Given the description of an element on the screen output the (x, y) to click on. 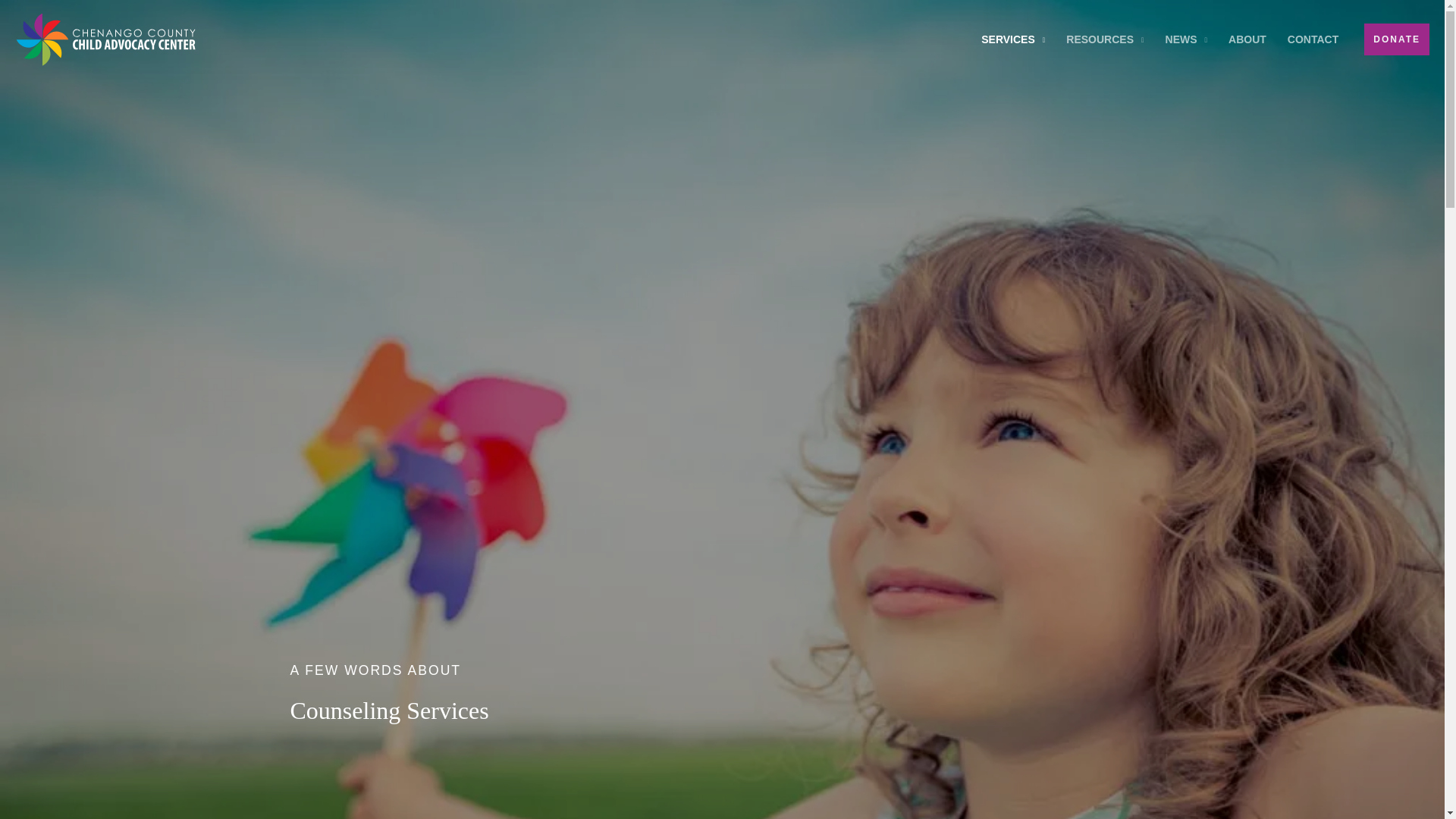
DONATE (1396, 39)
RESOURCES (1104, 39)
NEWS (1186, 39)
ABOUT (1246, 39)
SERVICES (1013, 39)
CONTACT (1312, 39)
